Given the description of an element on the screen output the (x, y) to click on. 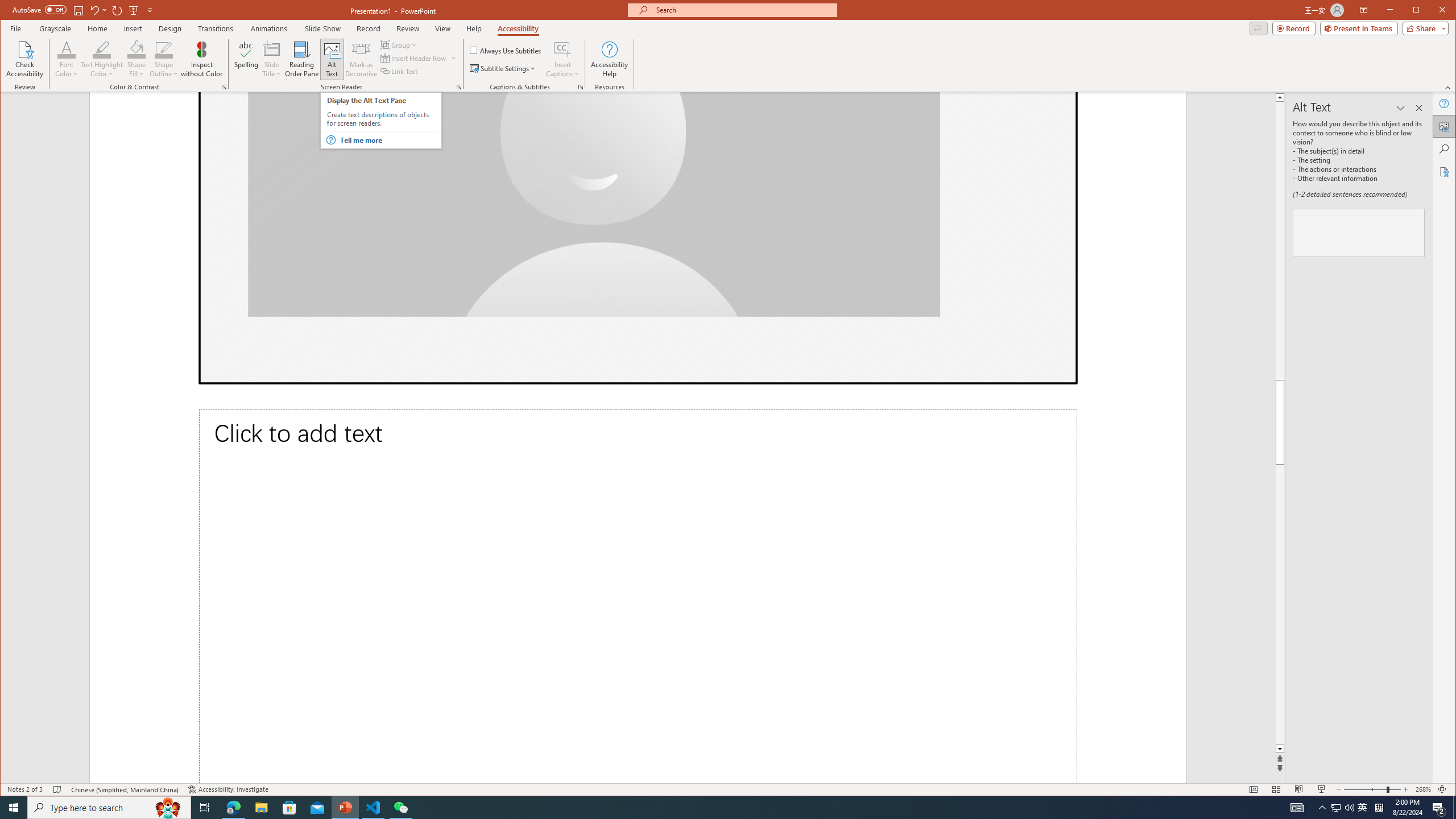
Link Text (399, 70)
Always Use Subtitles (505, 49)
Description (1358, 232)
Subtitle Settings (502, 68)
Accessibility Help (608, 59)
